Given the description of an element on the screen output the (x, y) to click on. 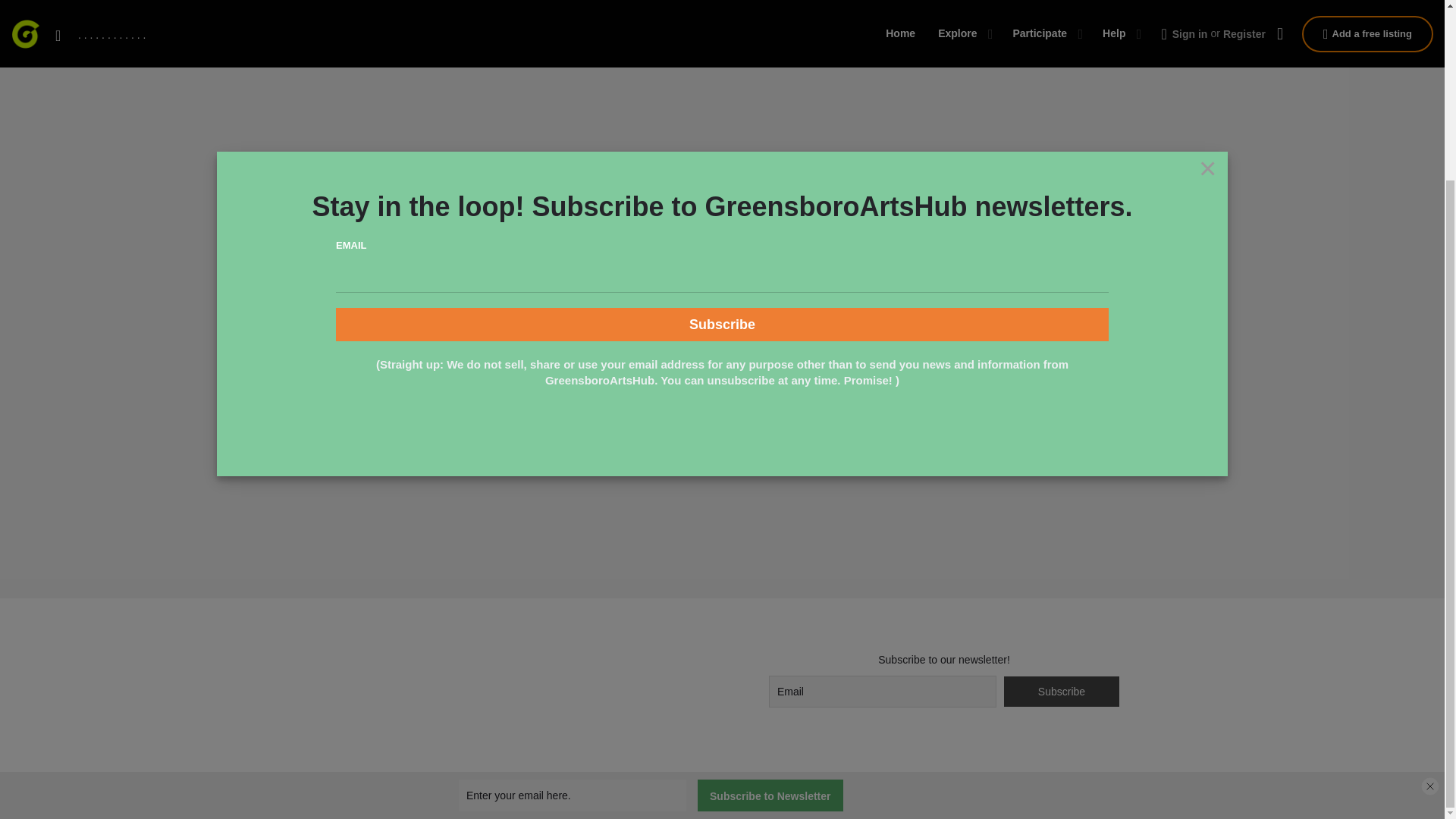
Subscribe (1061, 691)
Back to homepage (721, 4)
Subscribe to Newsletter (770, 574)
Subscribe (1061, 691)
Subscribe (722, 103)
